Given the description of an element on the screen output the (x, y) to click on. 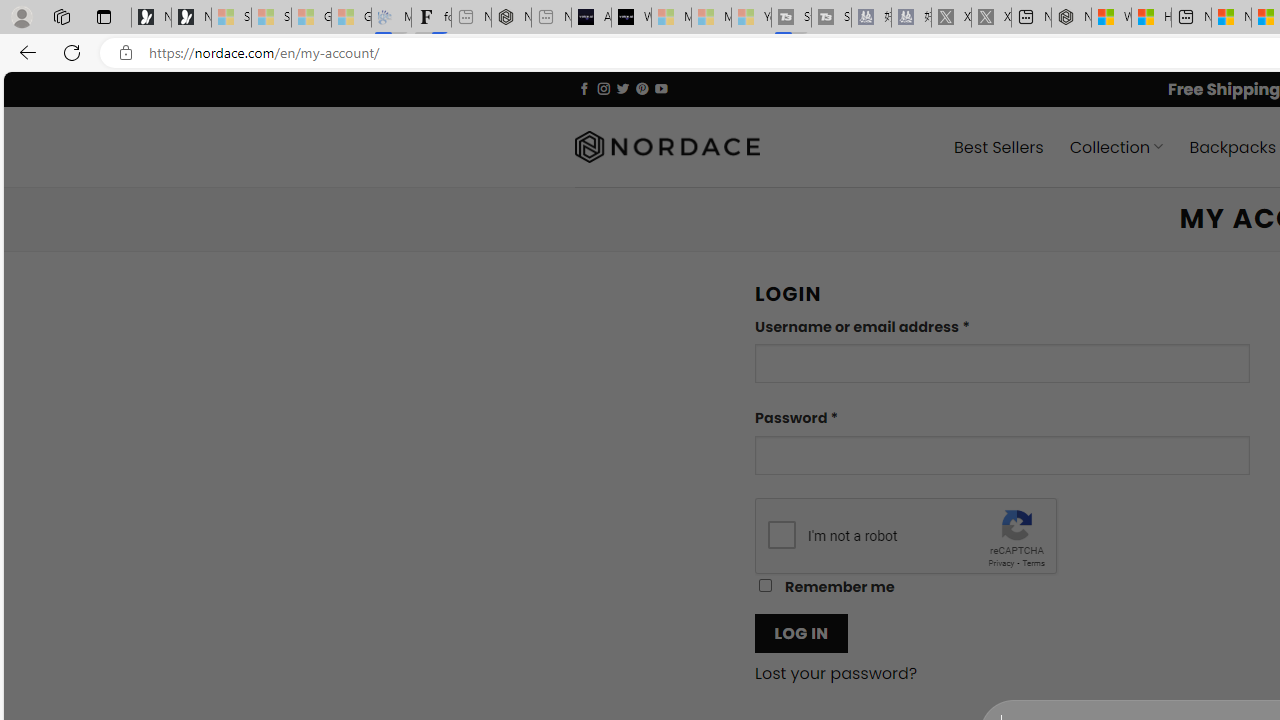
Privacy (1001, 562)
 Best Sellers (998, 146)
Follow on Pinterest (642, 88)
I'm not a robot (782, 533)
New tab - Sleeping (551, 17)
Huge shark washes ashore at New York City beach | Watch (1151, 17)
LOG IN (801, 632)
